Given the description of an element on the screen output the (x, y) to click on. 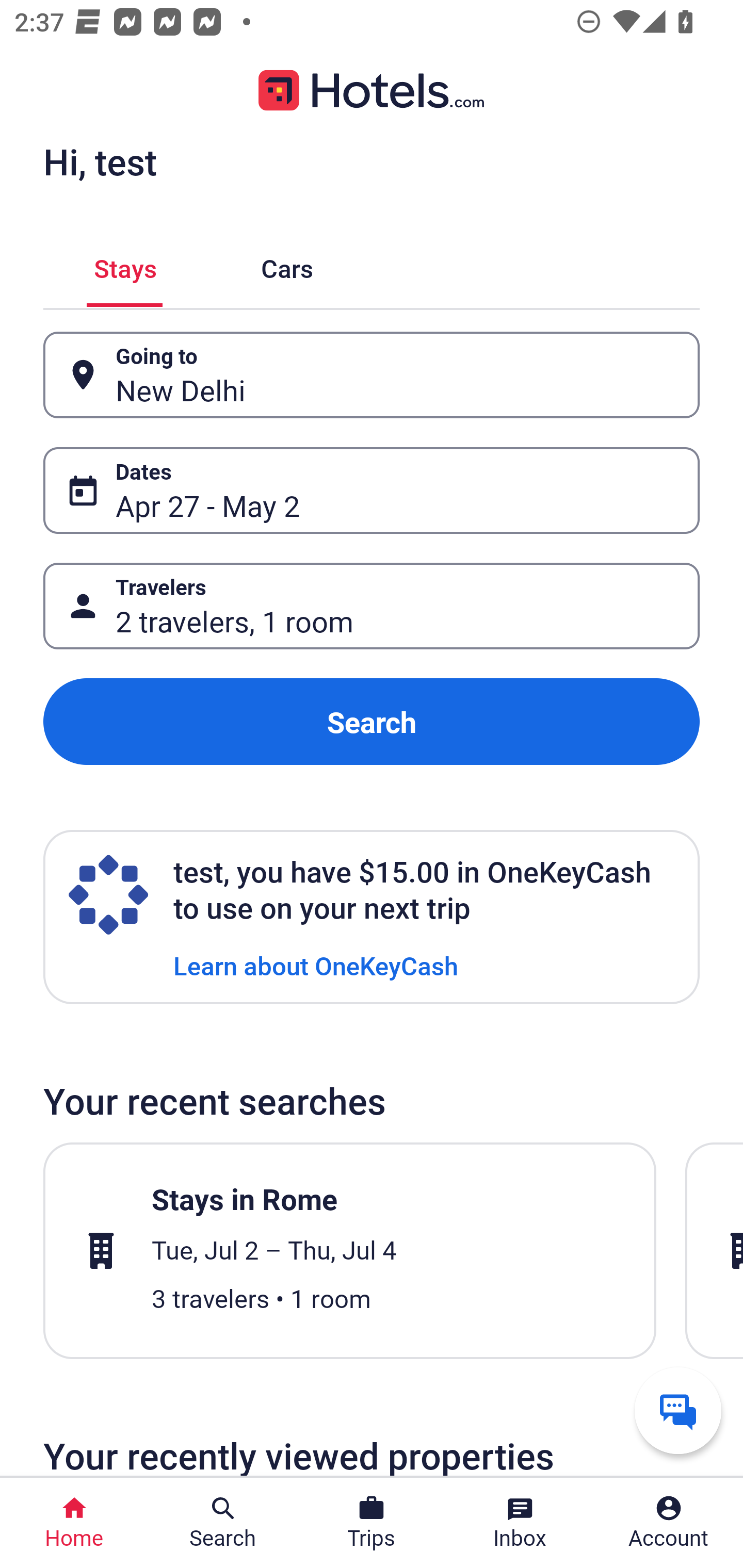
Hi, test (99, 161)
Cars (286, 265)
Going to Button New Delhi (371, 375)
Dates Button Apr 27 - May 2 (371, 489)
Travelers Button 2 travelers, 1 room (371, 605)
Search (371, 721)
Learn about OneKeyCash Learn about OneKeyCash Link (315, 964)
Get help from a virtual agent (677, 1410)
Search Search Button (222, 1522)
Trips Trips Button (371, 1522)
Inbox Inbox Button (519, 1522)
Account Profile. Button (668, 1522)
